Given the description of an element on the screen output the (x, y) to click on. 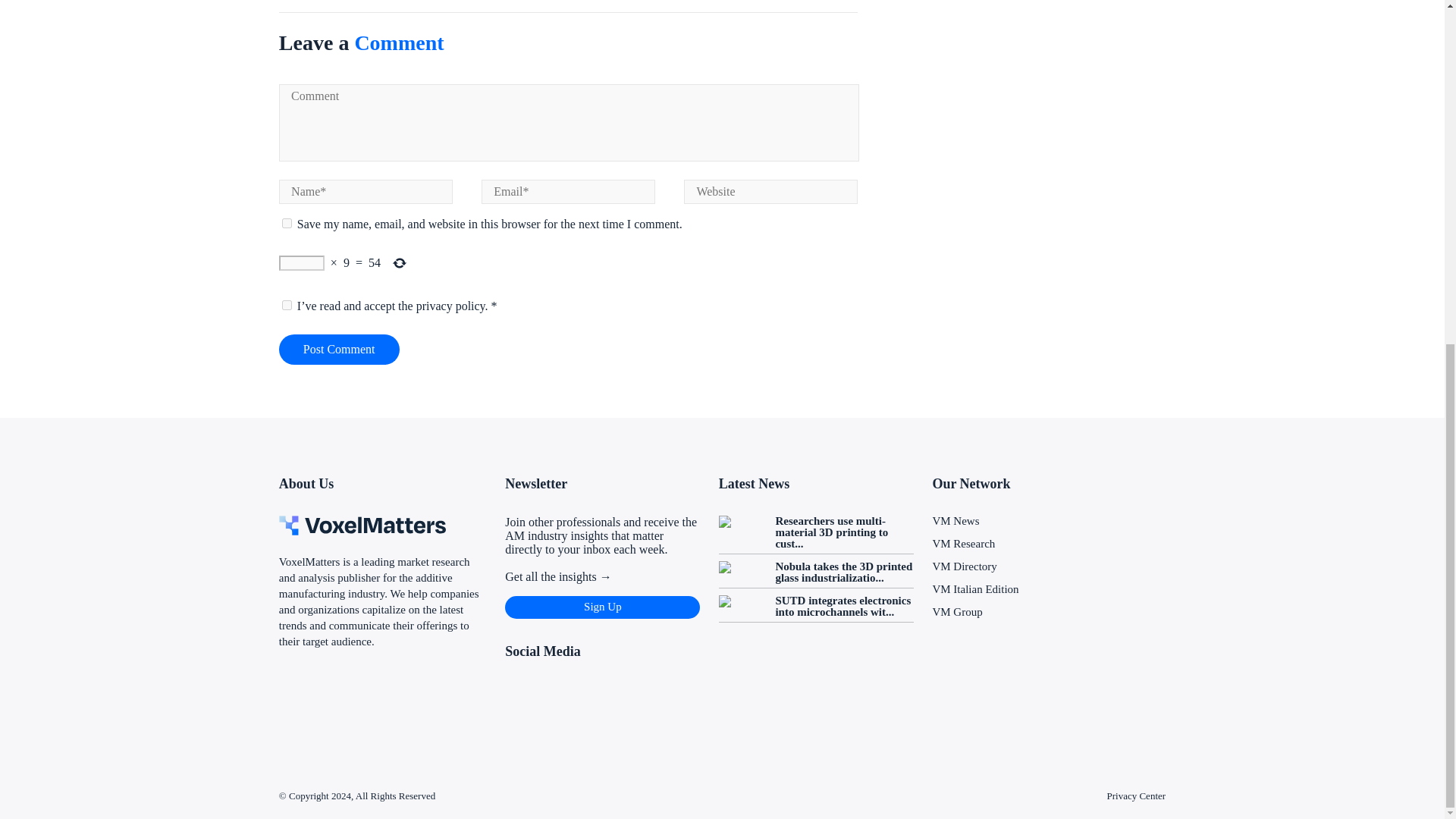
Post Comment (338, 349)
VM Directory (963, 566)
VM Research (962, 543)
VM Italian Edition (974, 589)
Sign Up (602, 607)
VM News (954, 521)
VM Group (956, 612)
yes (287, 223)
on (287, 305)
Post Comment (338, 349)
